Given the description of an element on the screen output the (x, y) to click on. 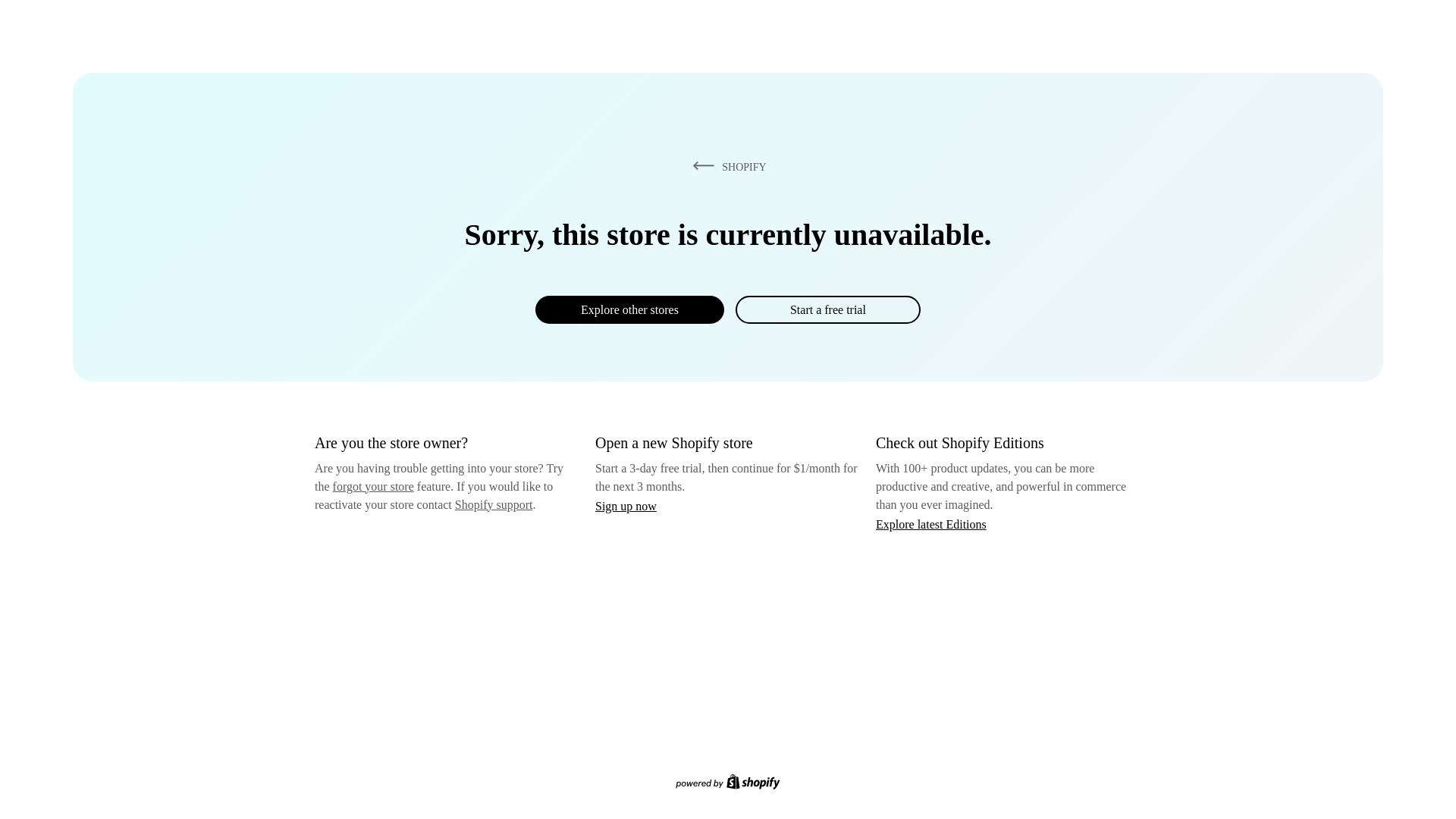
forgot your store (373, 486)
Shopify support (493, 504)
SHOPIFY (726, 166)
Explore latest Editions (931, 523)
Sign up now (625, 505)
Explore other stores (629, 309)
Start a free trial (827, 309)
